Given the description of an element on the screen output the (x, y) to click on. 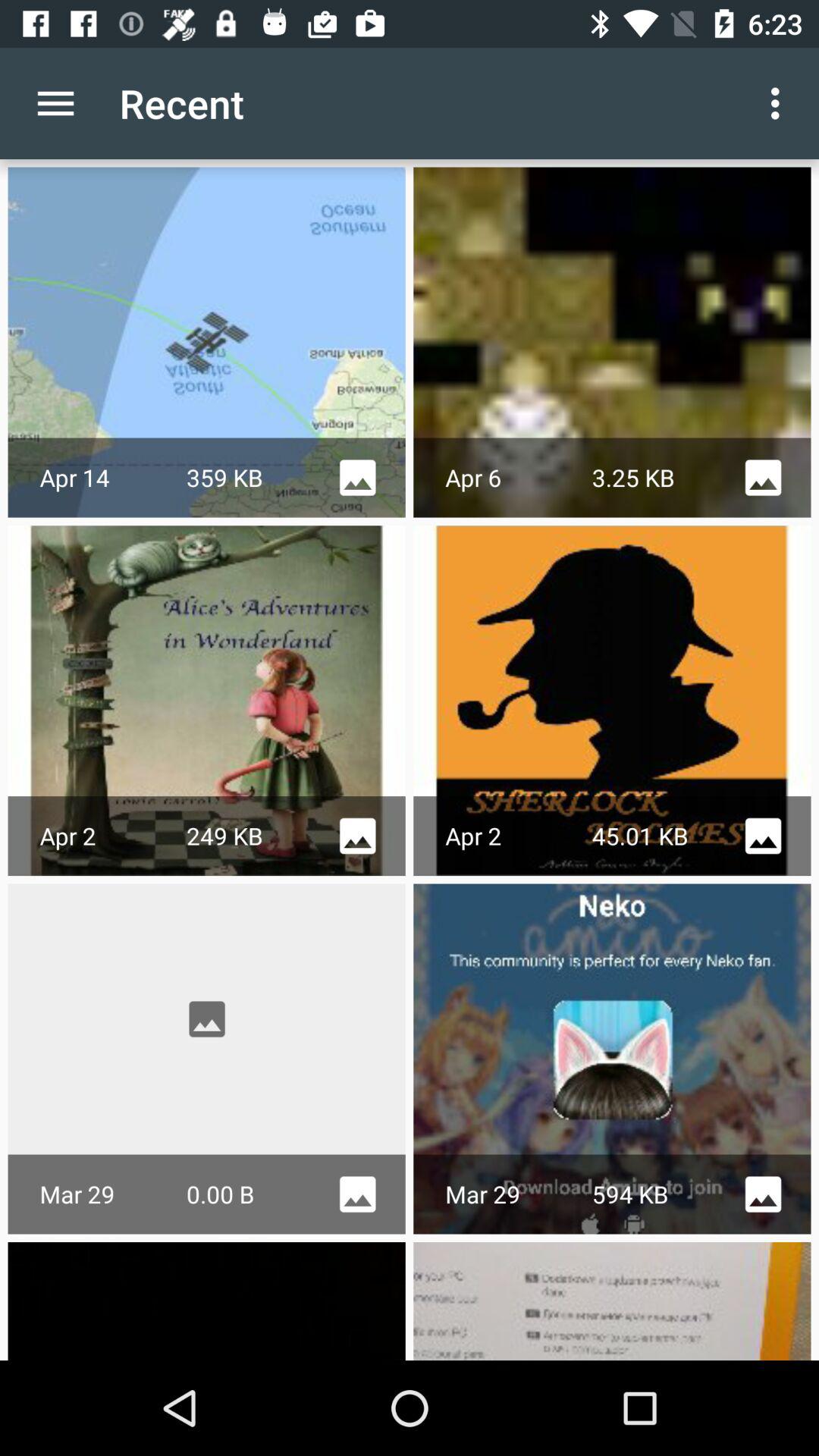
choose the icon next to the recent icon (779, 103)
